Given the description of an element on the screen output the (x, y) to click on. 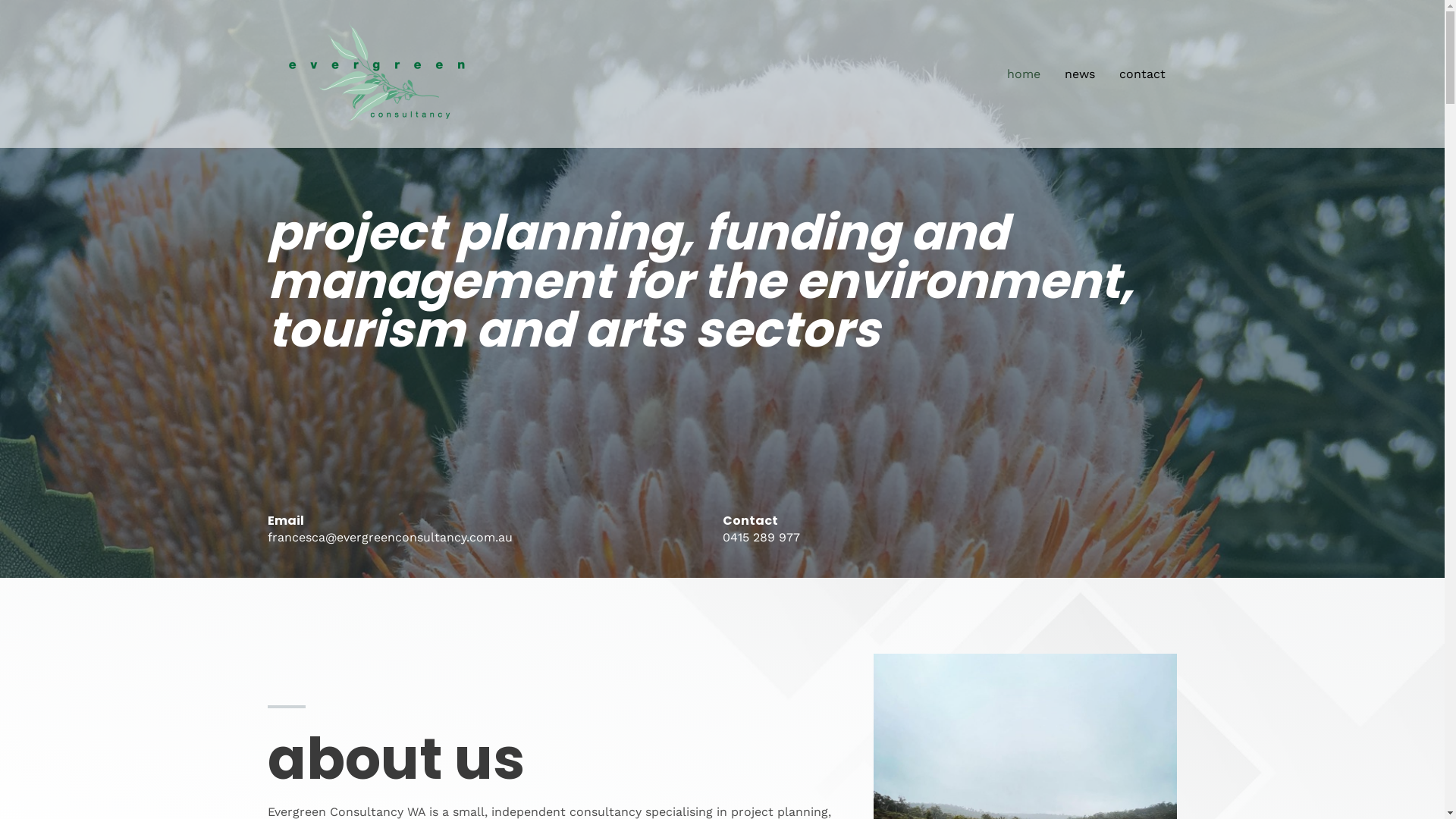
home Element type: text (1023, 74)
contact Element type: text (1142, 74)
0415 289 977 Element type: text (760, 537)
news Element type: text (1079, 74)
francesca@evergreenconsultancy.com.au Element type: text (388, 537)
